Given the description of an element on the screen output the (x, y) to click on. 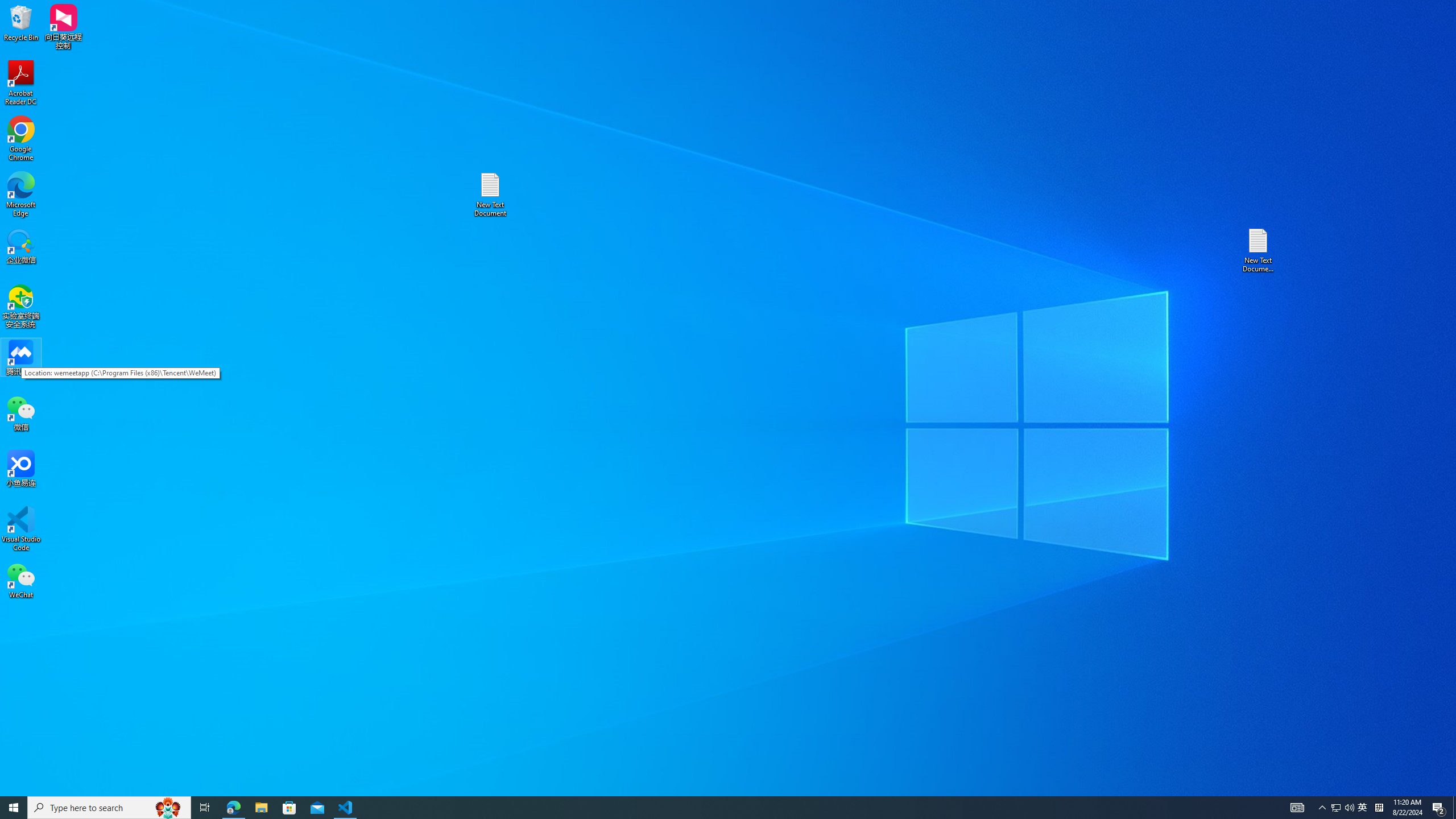
Acrobat Reader DC (21, 82)
Google Chrome (21, 138)
New Text Document (2) (1258, 250)
WeChat (21, 580)
